Given the description of an element on the screen output the (x, y) to click on. 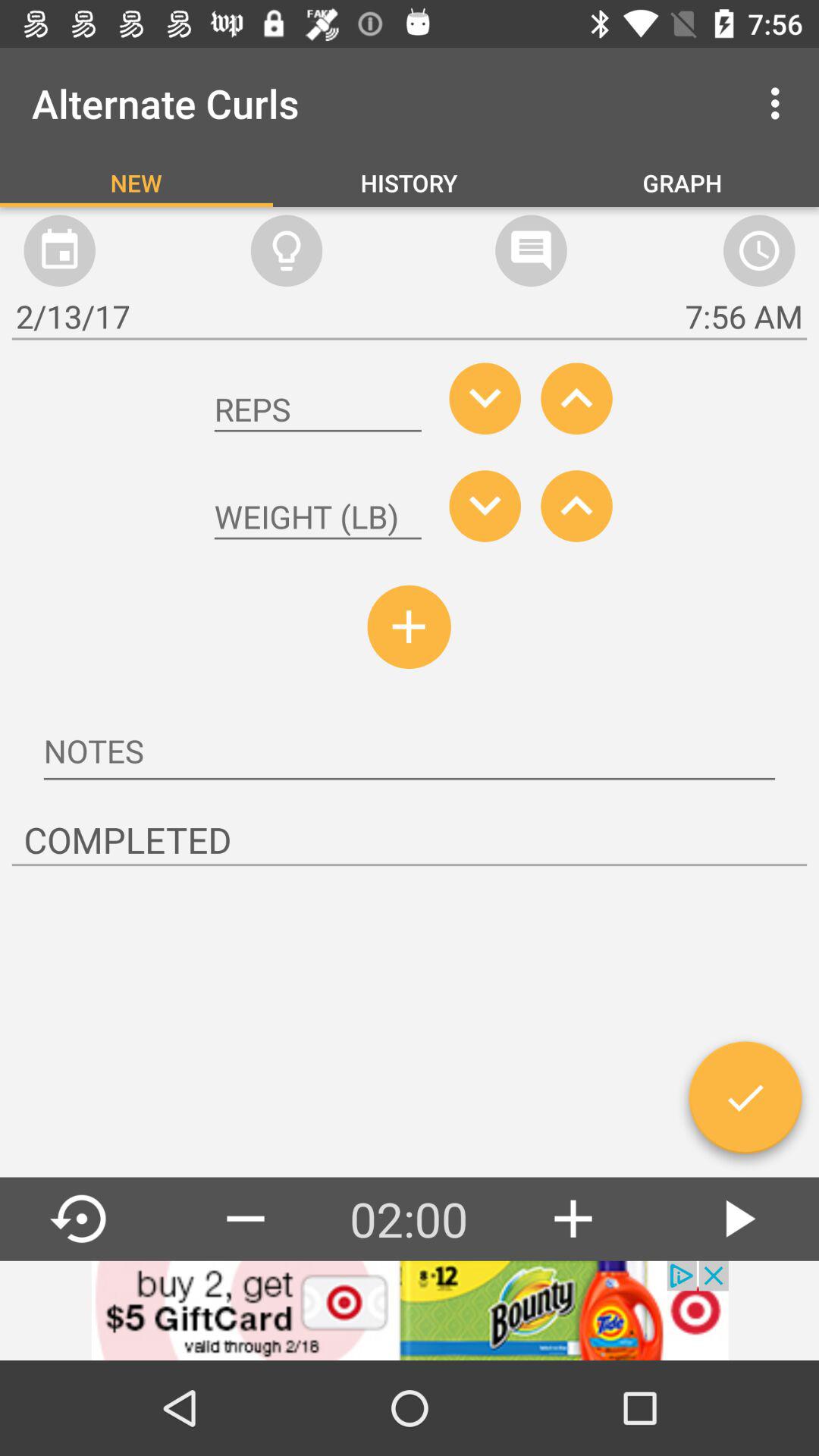
to accept correct (745, 1103)
